Given the description of an element on the screen output the (x, y) to click on. 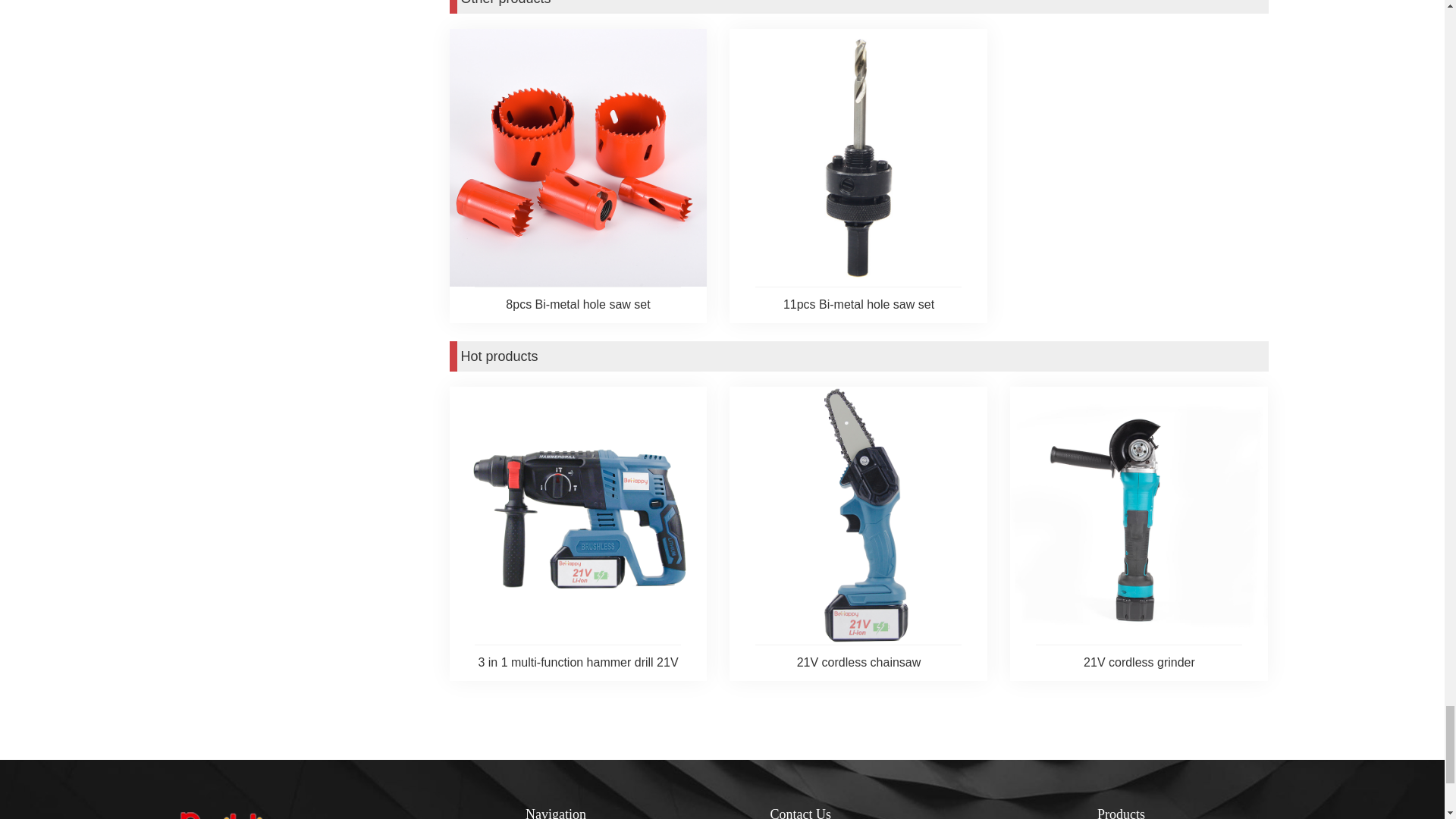
8pcs Bi-metal hole saw set (577, 304)
3 in 1 multi-function hammer drill 21V (577, 662)
11pcs Bi-metal hole saw set (858, 304)
